Given the description of an element on the screen output the (x, y) to click on. 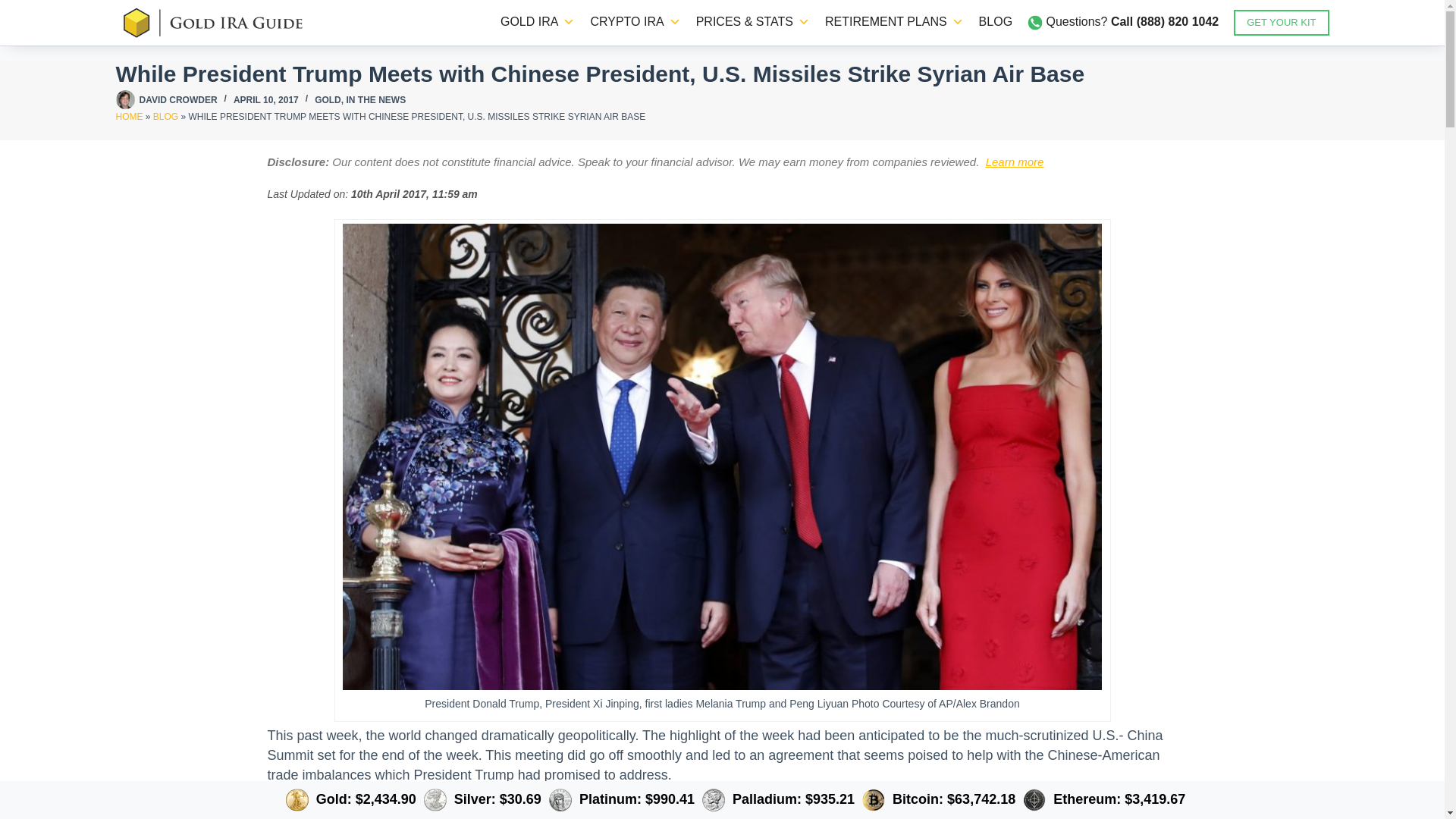
Posts by David Crowder (177, 100)
Skip to content (15, 7)
